Given the description of an element on the screen output the (x, y) to click on. 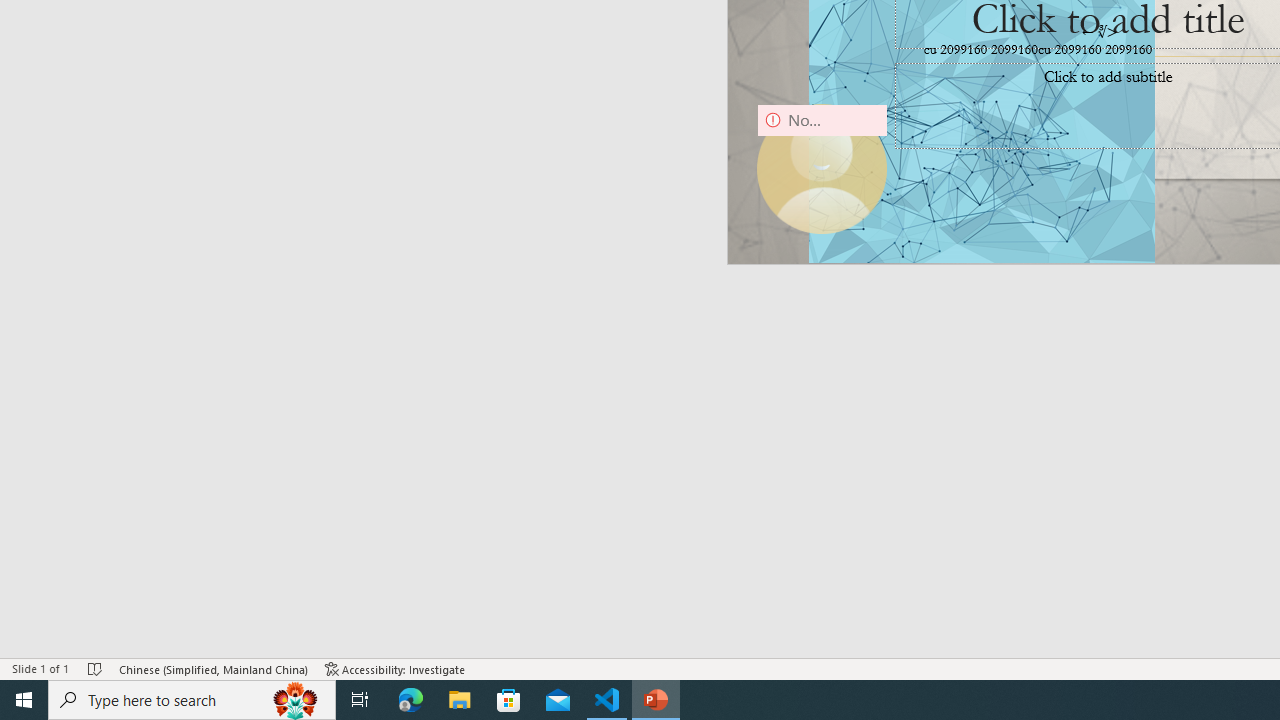
Camera 9, No camera detected. (822, 169)
Spell Check No Errors (95, 668)
TextBox 7 (1099, 32)
Accessibility Checker Accessibility: Investigate (395, 668)
